Given the description of an element on the screen output the (x, y) to click on. 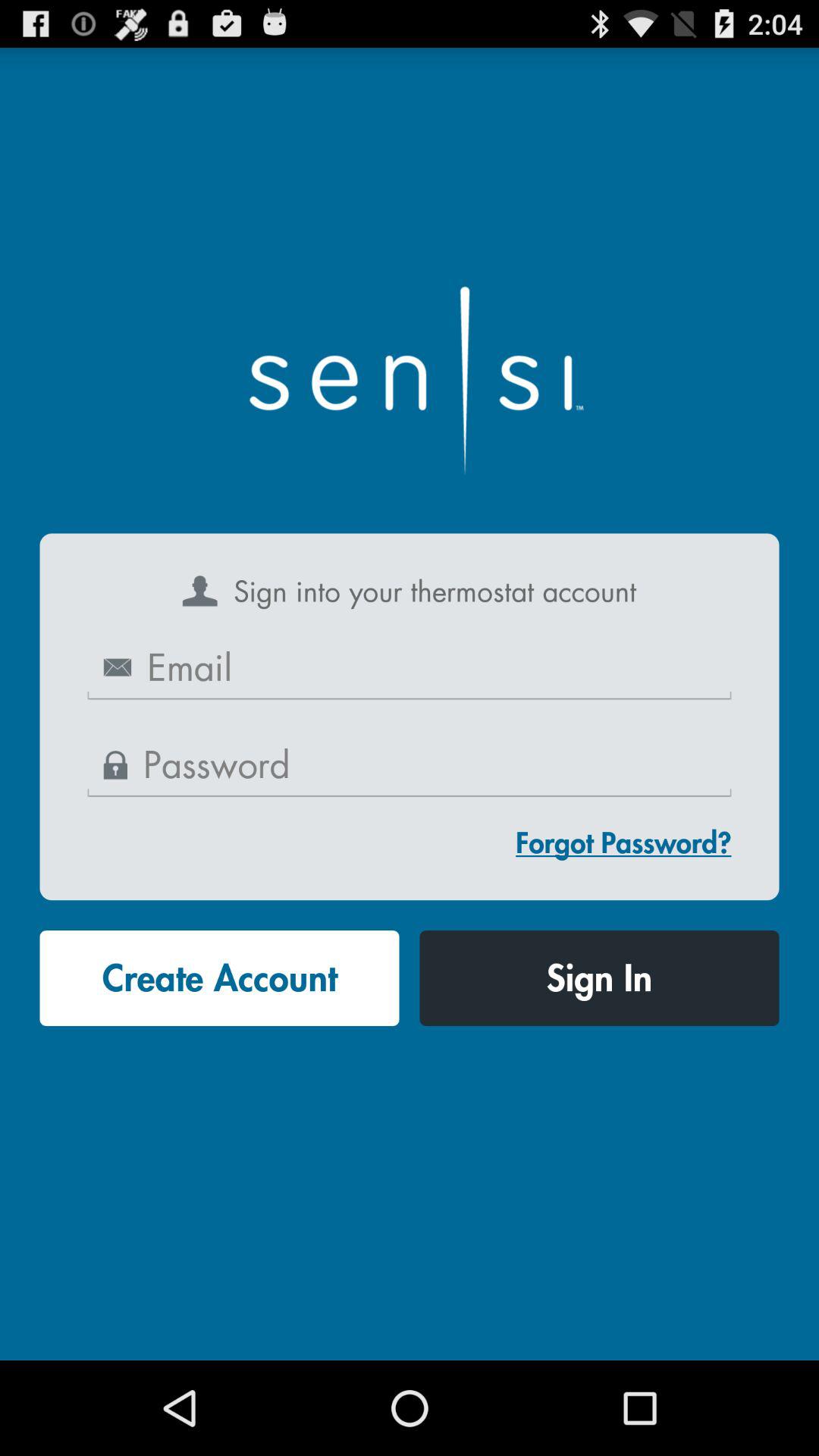
flip until create account item (219, 978)
